Given the description of an element on the screen output the (x, y) to click on. 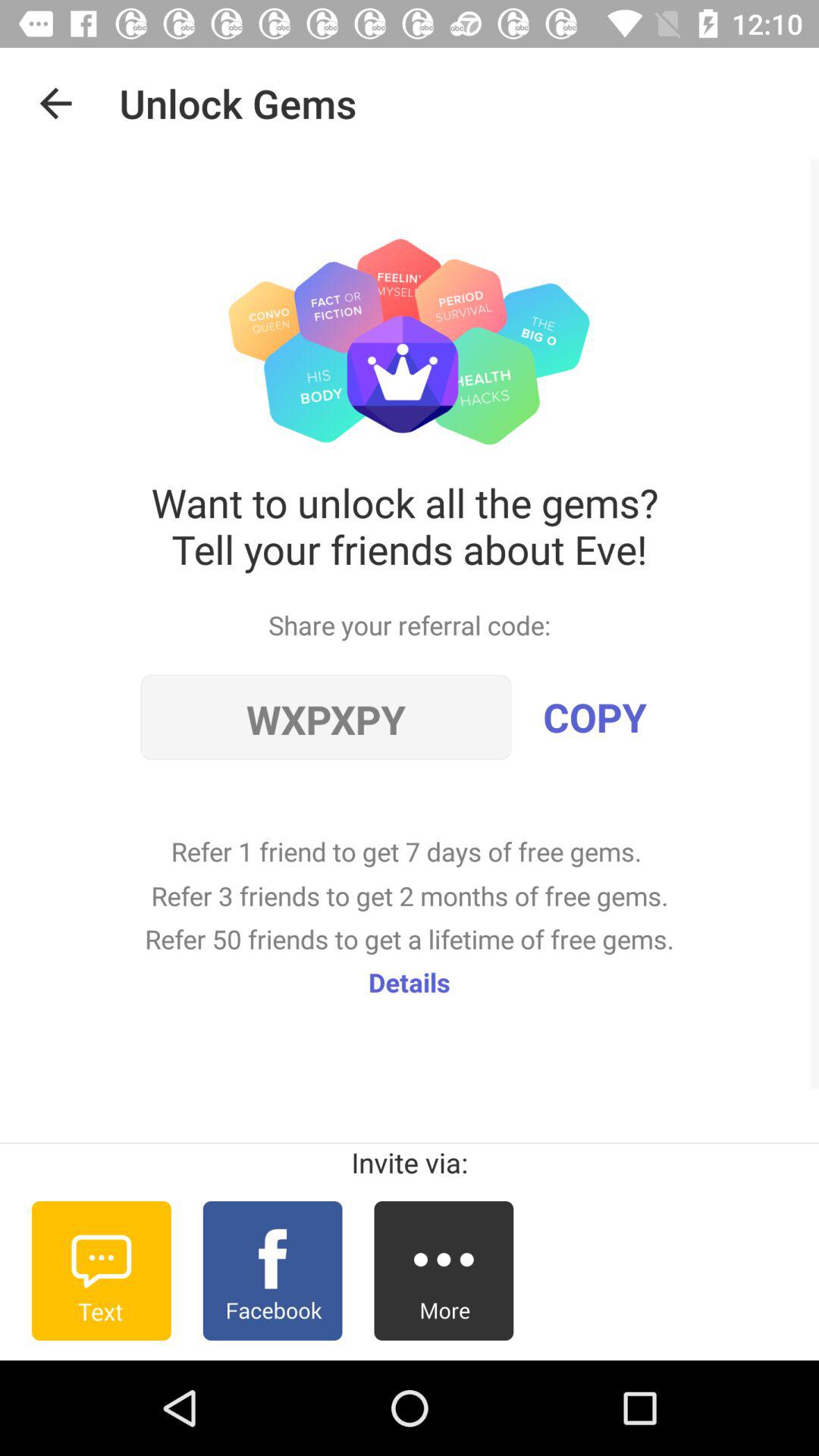
go back (55, 103)
